Given the description of an element on the screen output the (x, y) to click on. 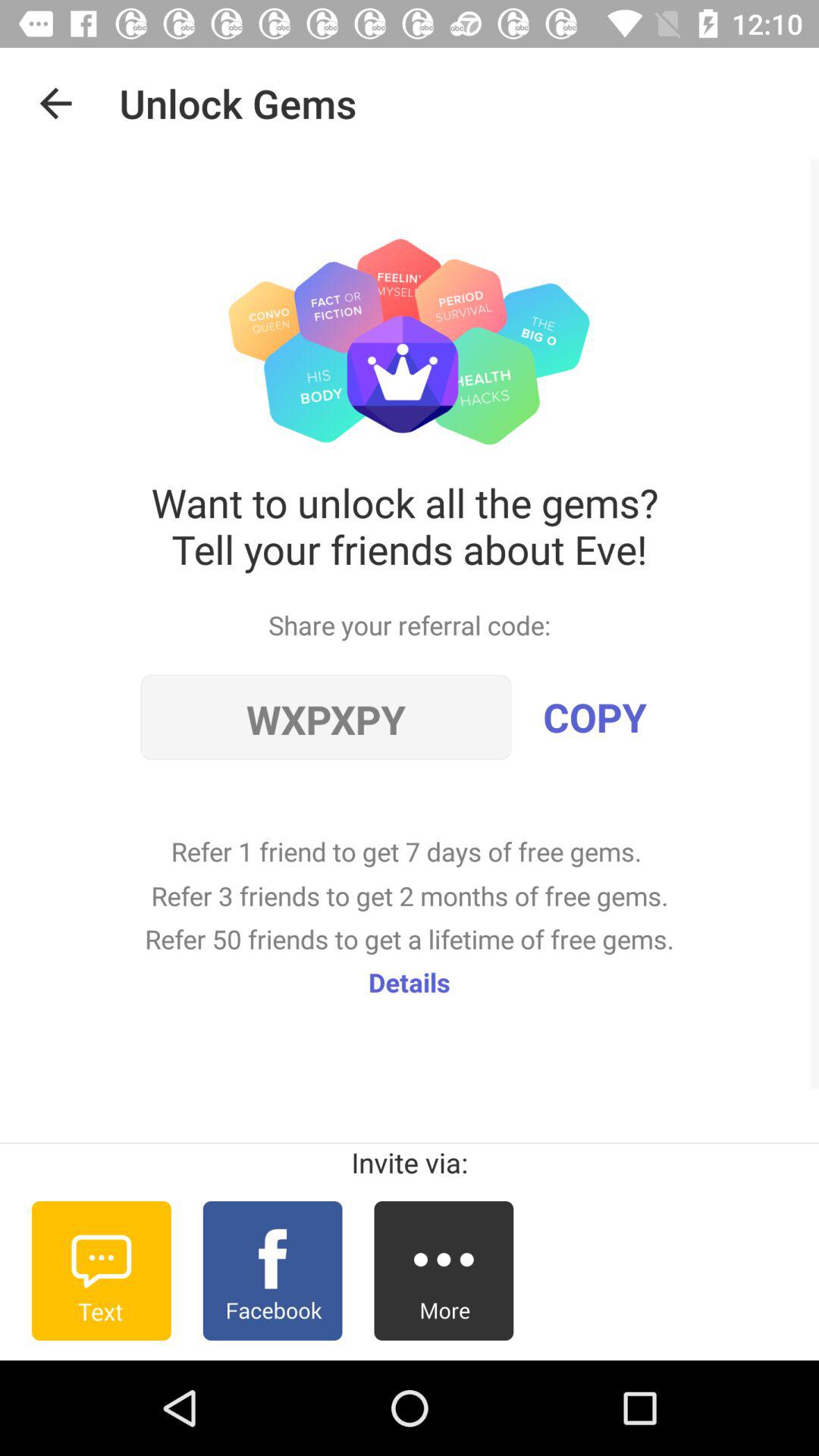
go back (55, 103)
